Given the description of an element on the screen output the (x, y) to click on. 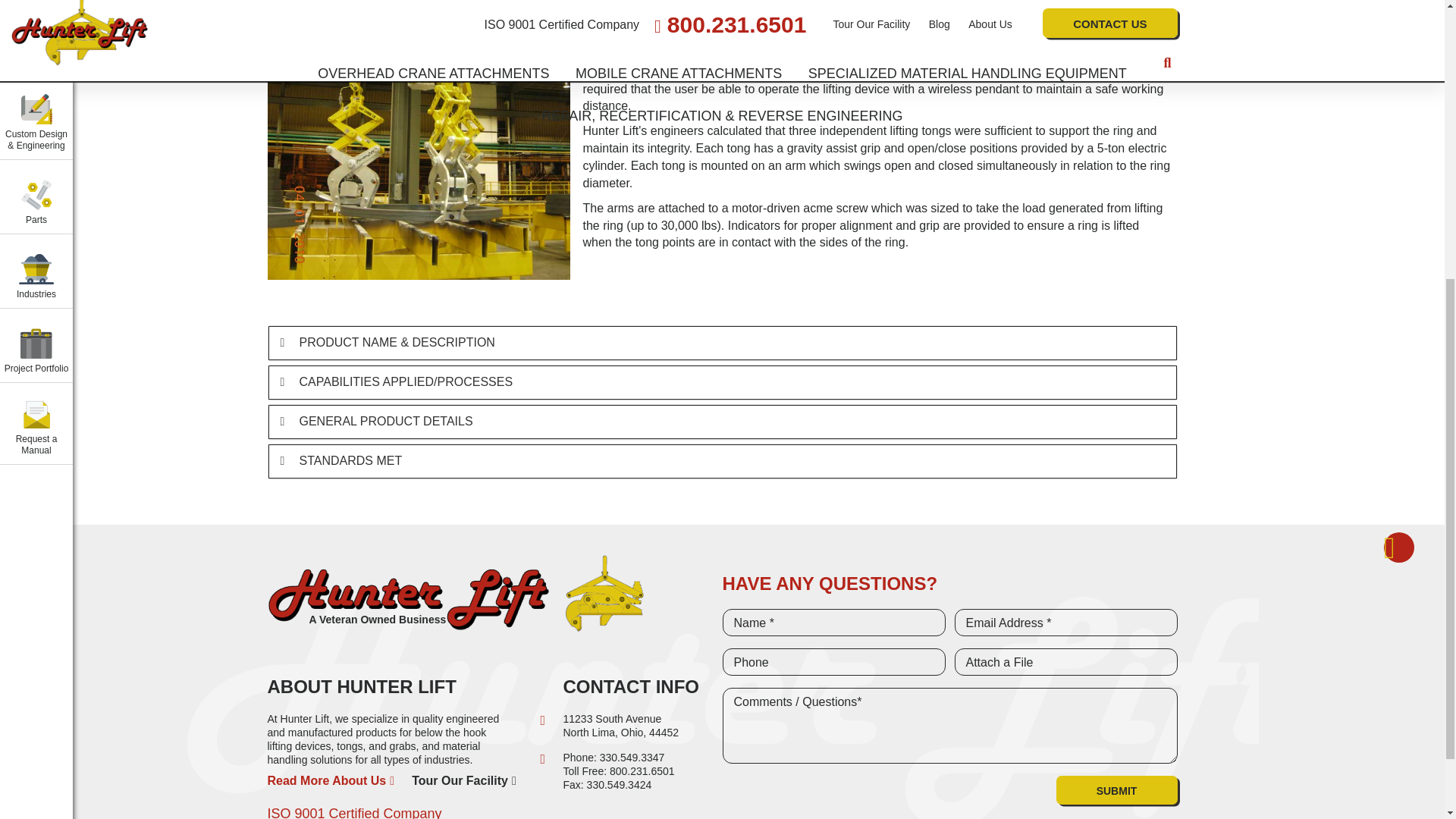
submit (1115, 789)
Request a Manual (36, 3)
